Given the description of an element on the screen output the (x, y) to click on. 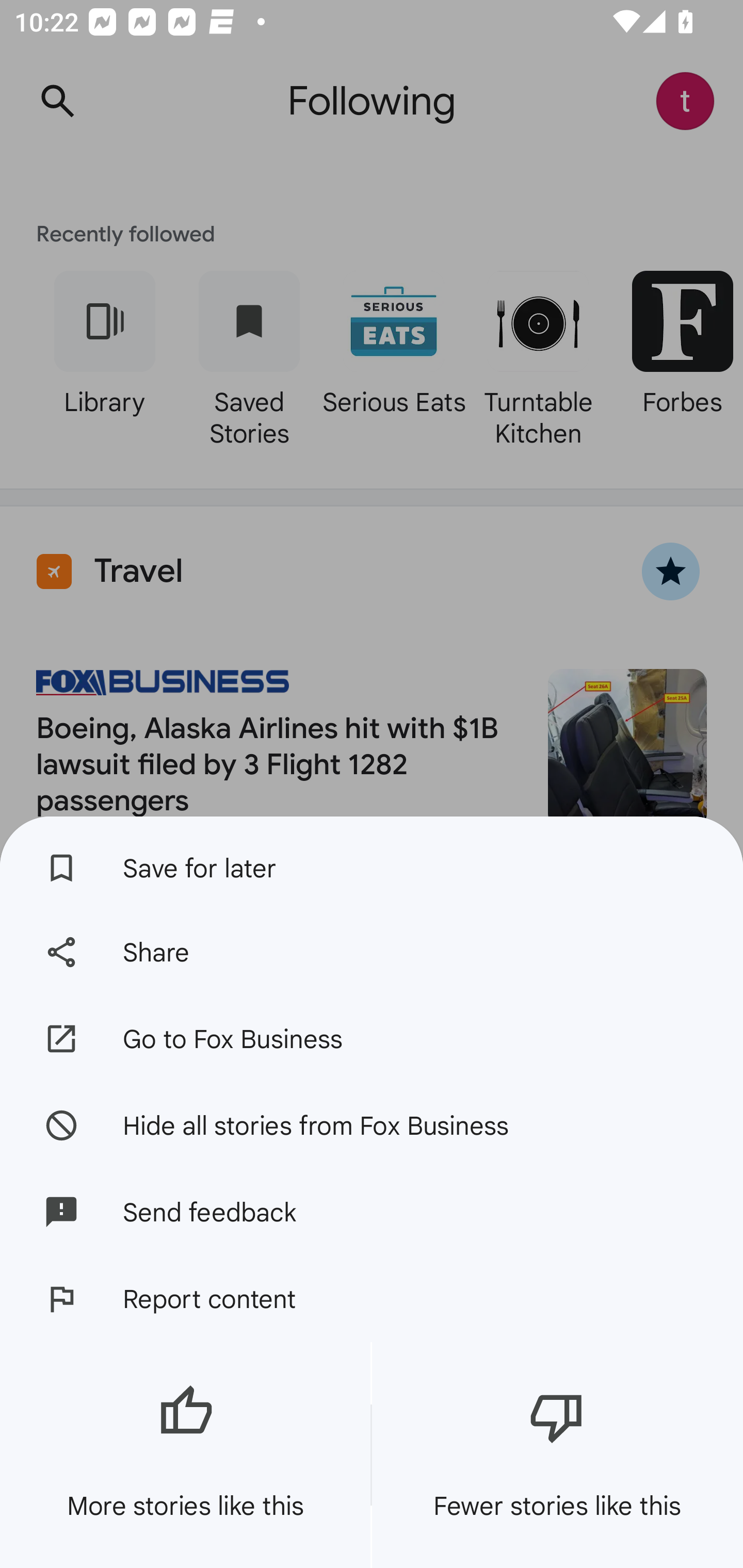
Save for later (371, 862)
Share (371, 952)
Go to Fox Business (371, 1038)
Hide all stories from Fox Business (371, 1124)
Send feedback (371, 1211)
Report content (371, 1298)
More stories like this (185, 1455)
Fewer stories like this (557, 1455)
